Given the description of an element on the screen output the (x, y) to click on. 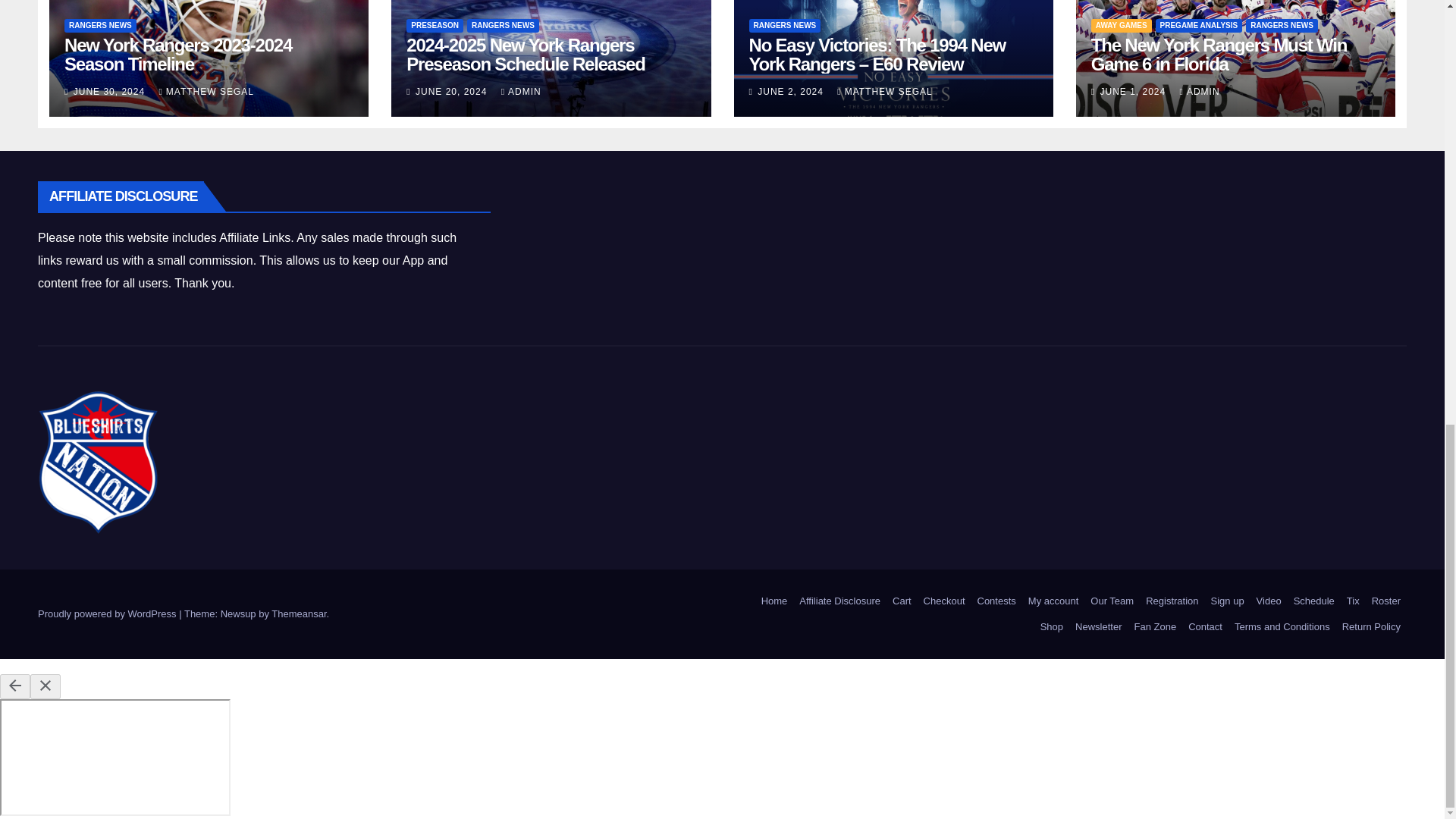
RANGERS NEWS (502, 25)
New York Rangers 2023-2024 Season Timeline (178, 54)
JUNE 20, 2024 (452, 91)
PRESEASON (434, 25)
RANGERS NEWS (100, 25)
ADMIN (520, 91)
Permalink to: New York Rangers 2023-2024 Season Timeline (178, 54)
2024-2025 New York Rangers Preseason Schedule Released (525, 54)
JUNE 30, 2024 (111, 91)
MATTHEW SEGAL (205, 91)
